Given the description of an element on the screen output the (x, y) to click on. 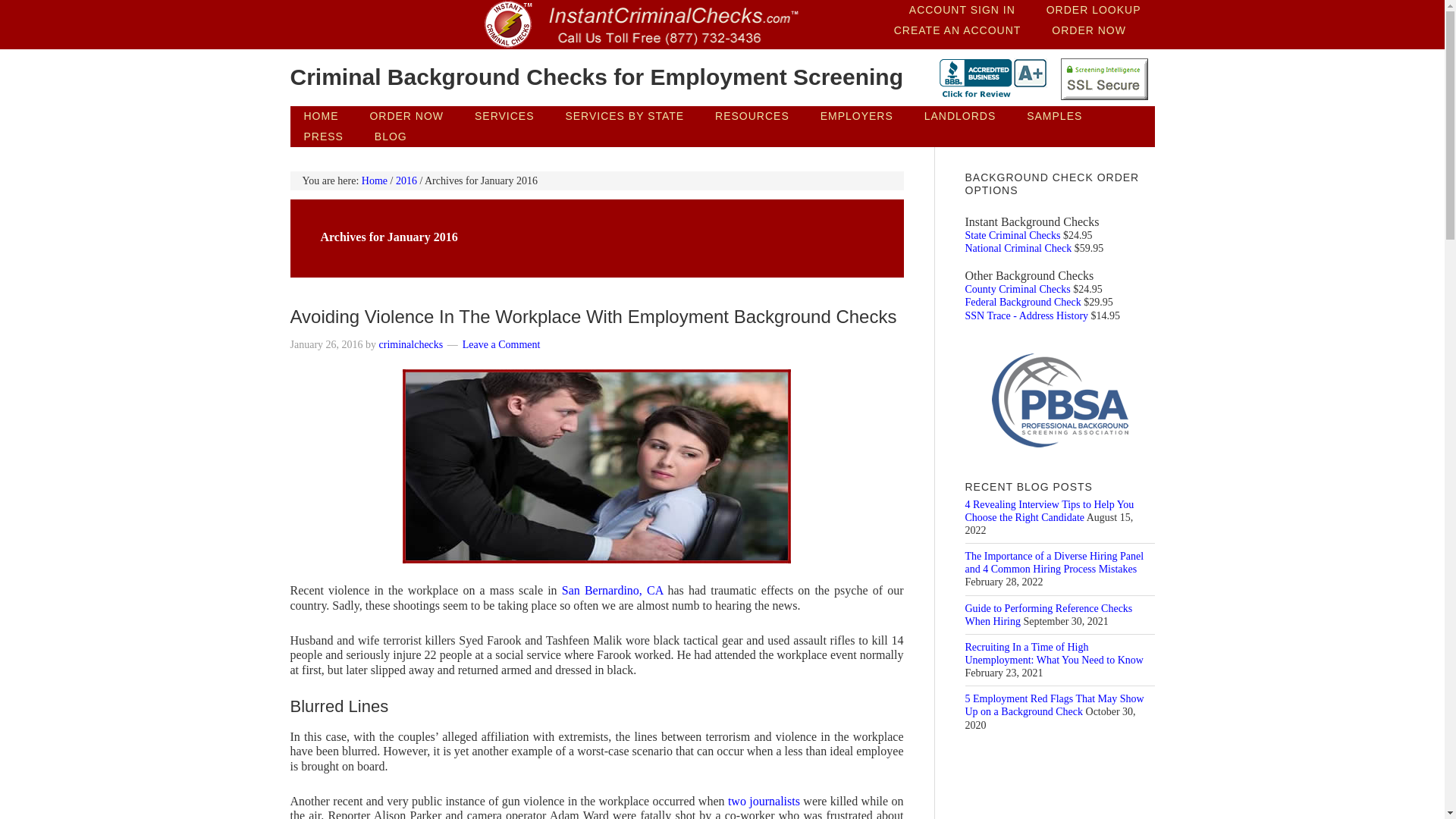
CREATE AN ACCOUNT (957, 30)
BBB Accredited Business (992, 84)
ORDER NOW (406, 116)
SERVICES (504, 116)
ACCOUNT SIGN IN (962, 10)
Create Account (957, 30)
Account Sign In (962, 10)
BBB Accredited Business (992, 78)
Background Check Services (504, 116)
Order Lookup (1093, 10)
INSTANT CRIMINAL BACKGROUND CHECKS (410, 24)
SERVICES BY STATE (624, 116)
ORDER LOOKUP (1093, 10)
HOME (320, 116)
Order Now (406, 116)
